Given the description of an element on the screen output the (x, y) to click on. 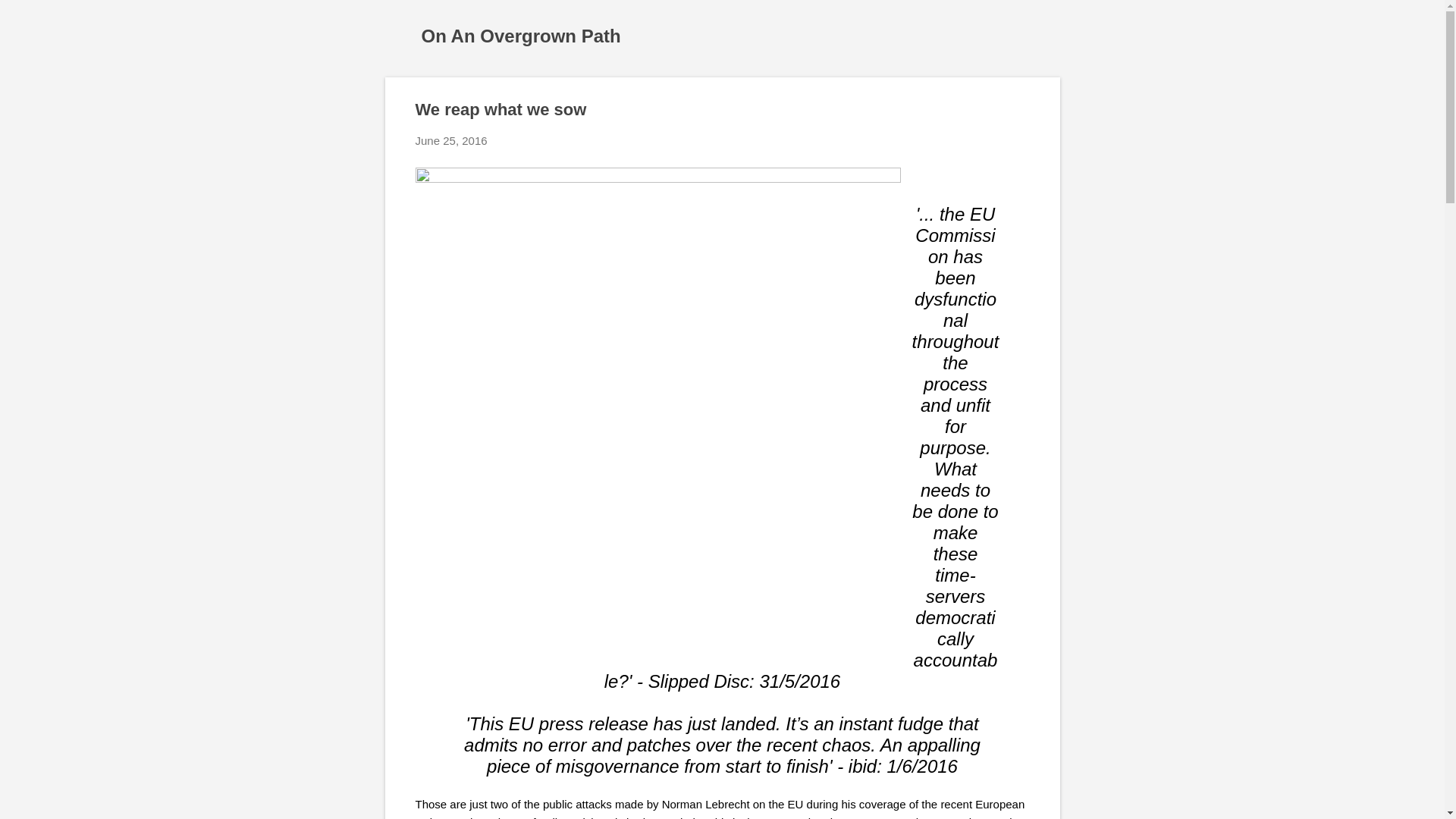
Search (29, 18)
On An Overgrown Path (521, 35)
permanent link (450, 140)
June 25, 2016 (450, 140)
